Given the description of an element on the screen output the (x, y) to click on. 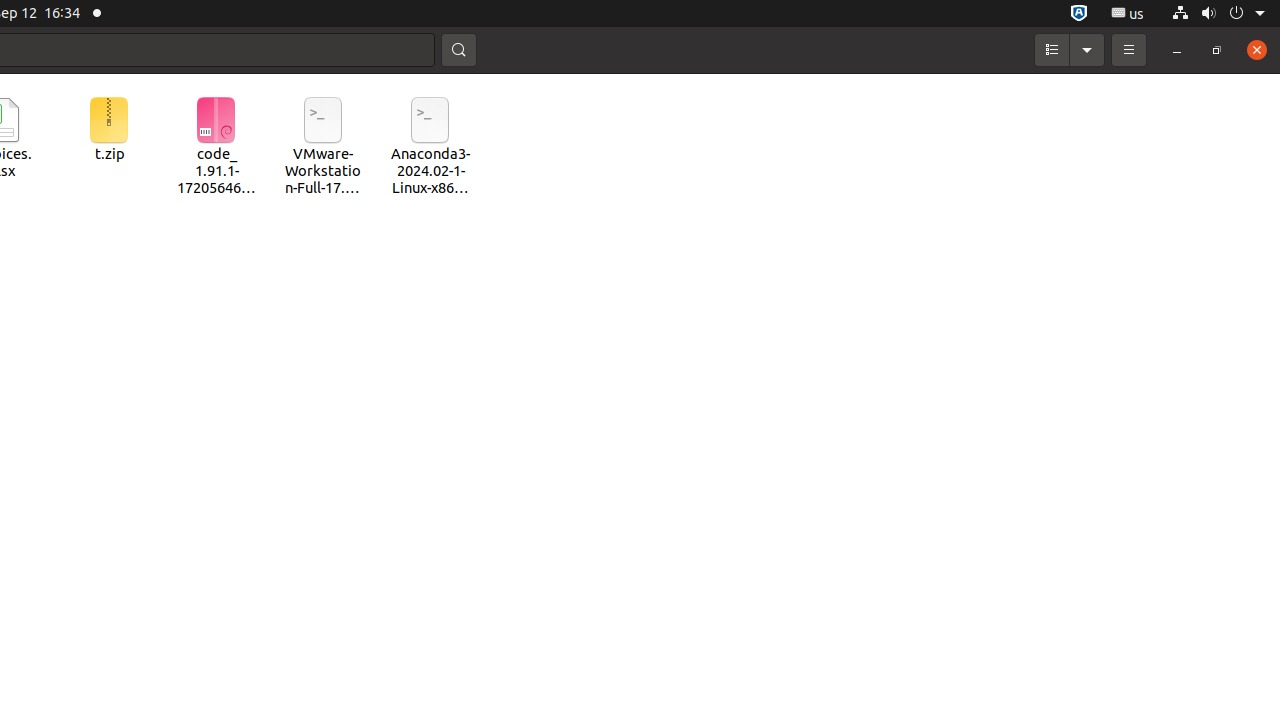
Minimize Element type: push-button (1177, 50)
Close Element type: push-button (1257, 50)
code_1.91.1-1720564633_amd64.deb Element type: canvas (216, 147)
Restore Element type: push-button (1217, 50)
